Given the description of an element on the screen output the (x, y) to click on. 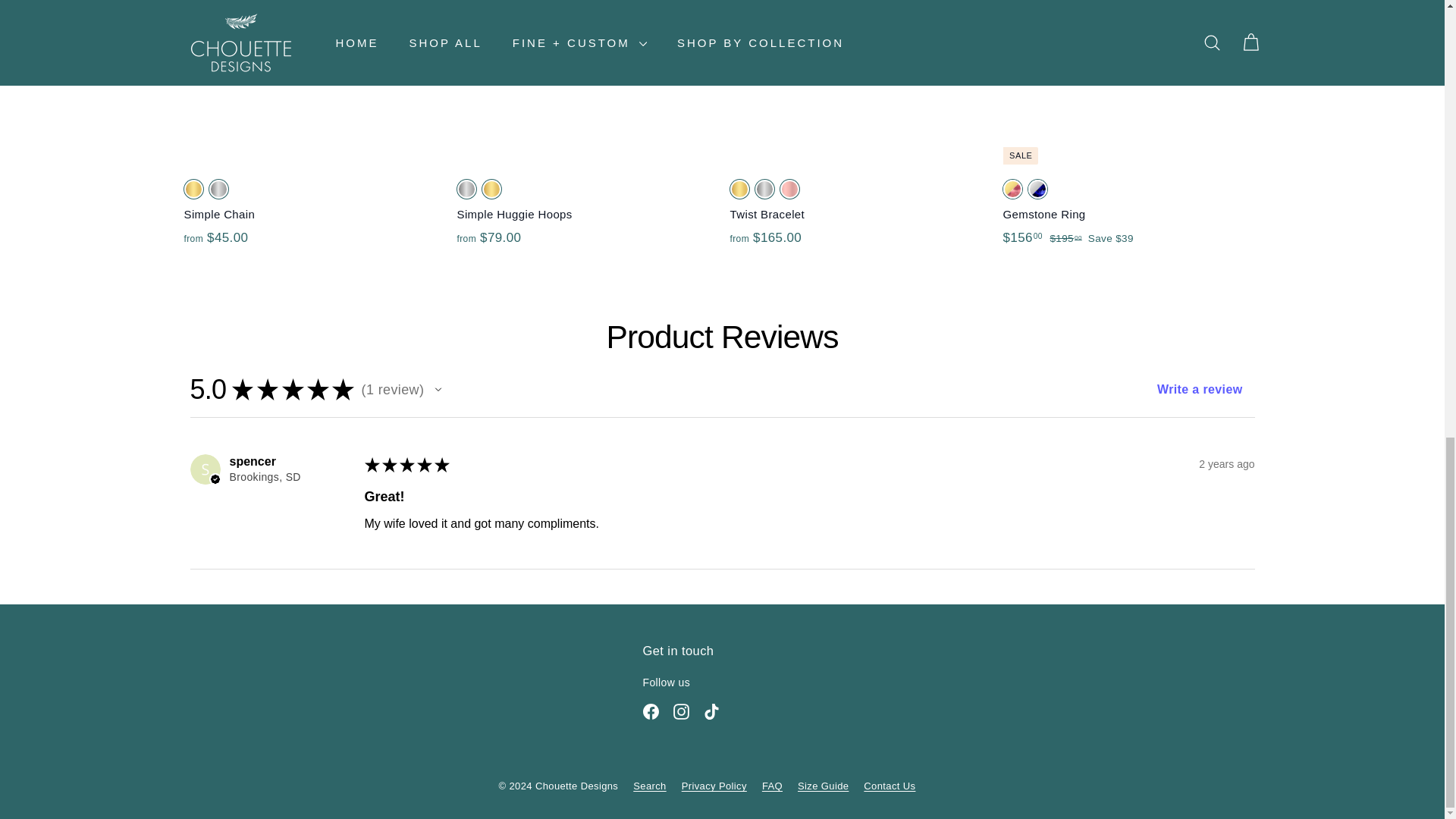
Chouette Designs on Facebook (651, 710)
Chouette Designs on TikTok (711, 710)
instagram (680, 711)
Chouette Designs on Instagram (680, 710)
